Given the description of an element on the screen output the (x, y) to click on. 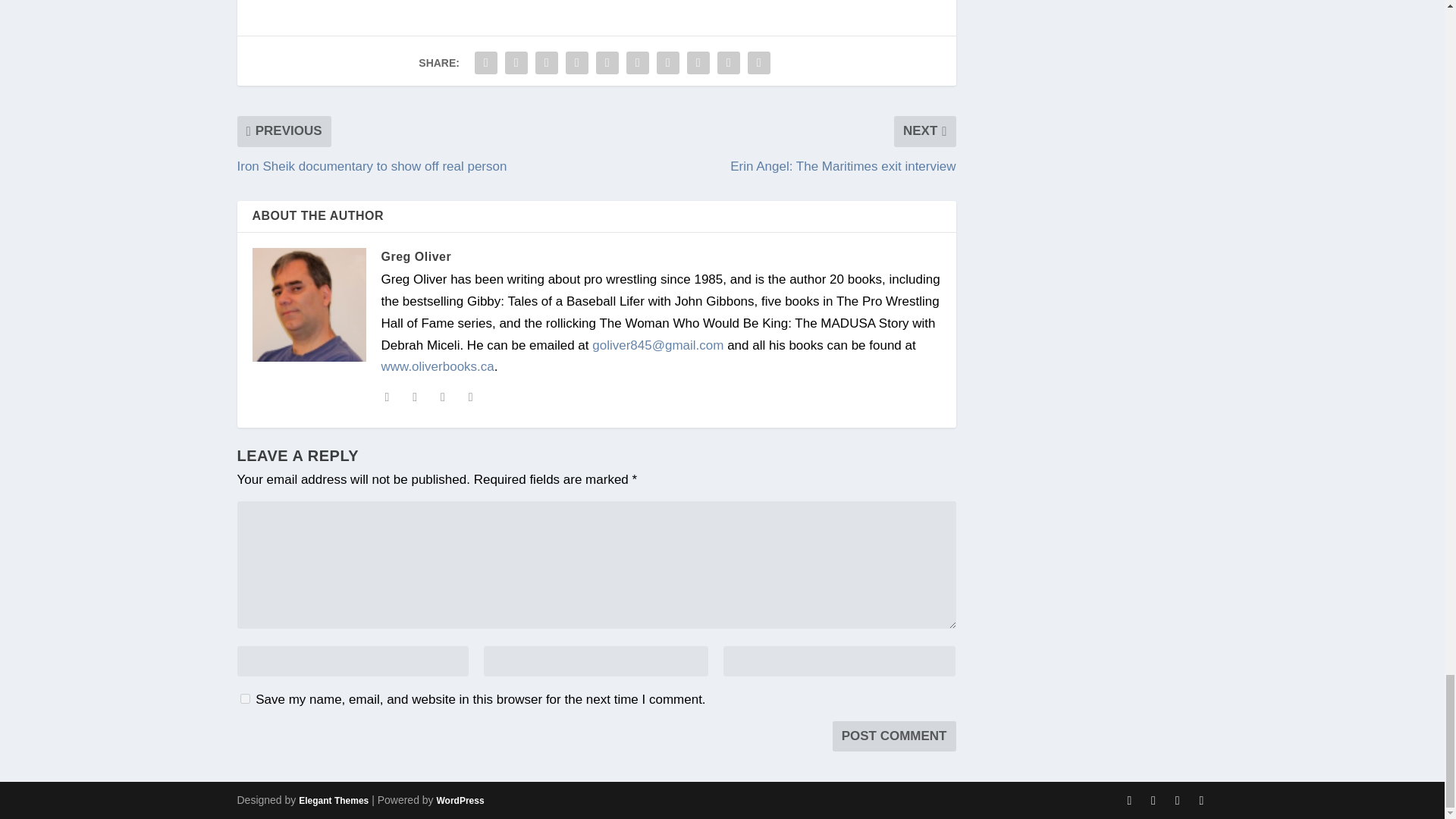
Post Comment (894, 736)
Share "Brodus Clay tries horror in No One Lives" via Buffer (667, 62)
Premium WordPress Themes (333, 800)
Share "Brodus Clay tries horror in No One Lives" via Tumblr (577, 62)
Share "Brodus Clay tries horror in No One Lives" via Twitter (515, 62)
Share "Brodus Clay tries horror in No One Lives" via Email (728, 62)
View all posts by Greg Oliver (415, 255)
yes (244, 698)
Share "Brodus Clay tries horror in No One Lives" via Print (759, 62)
